Given the description of an element on the screen output the (x, y) to click on. 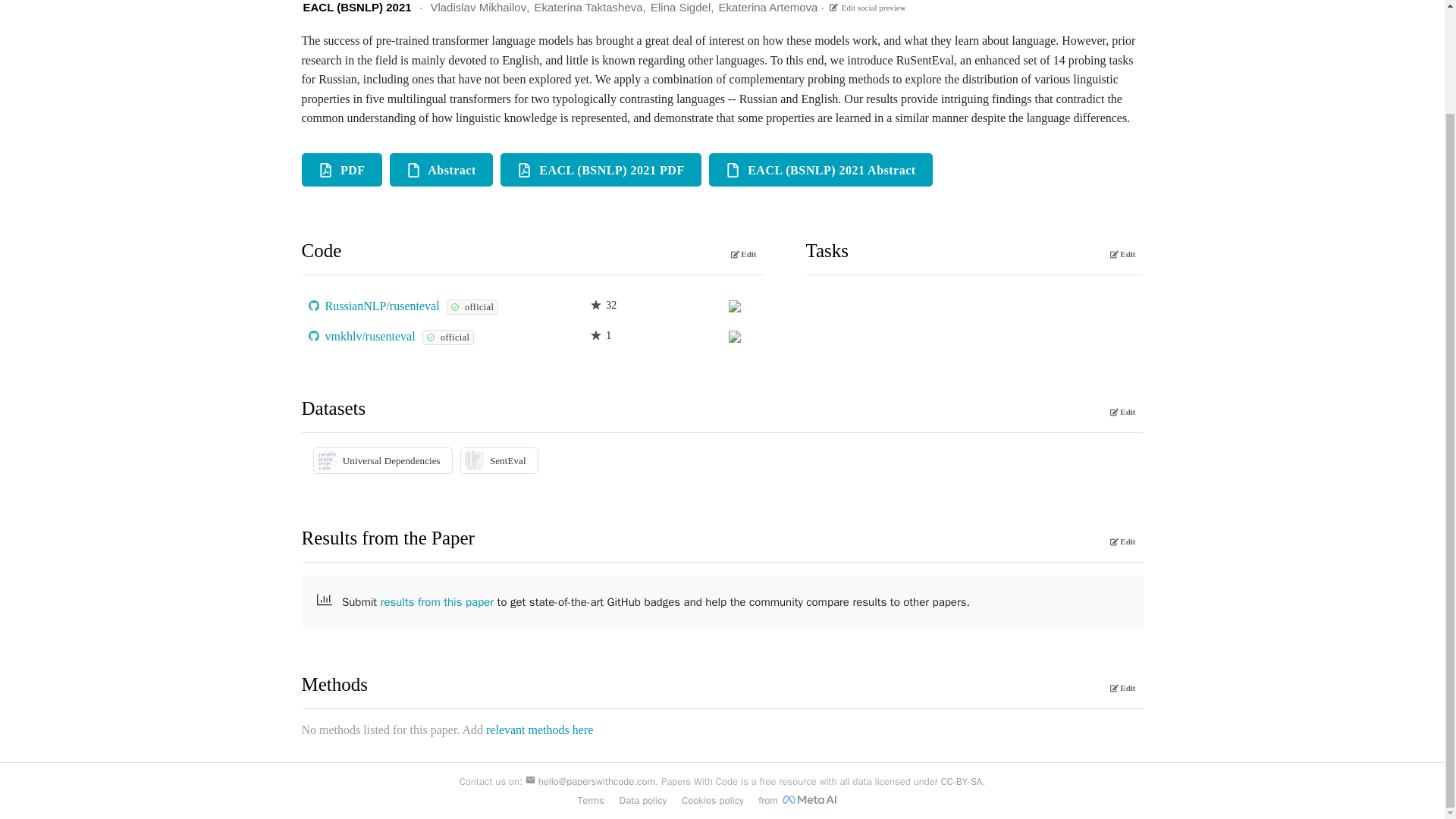
Abstract (441, 169)
Edit (743, 252)
Elina Sigdel (680, 6)
Edit social preview (866, 7)
PDF (341, 169)
Vladislav Mikhailov (477, 6)
Ekaterina Taktasheva (588, 6)
Ekaterina Artemova (768, 6)
